Given the description of an element on the screen output the (x, y) to click on. 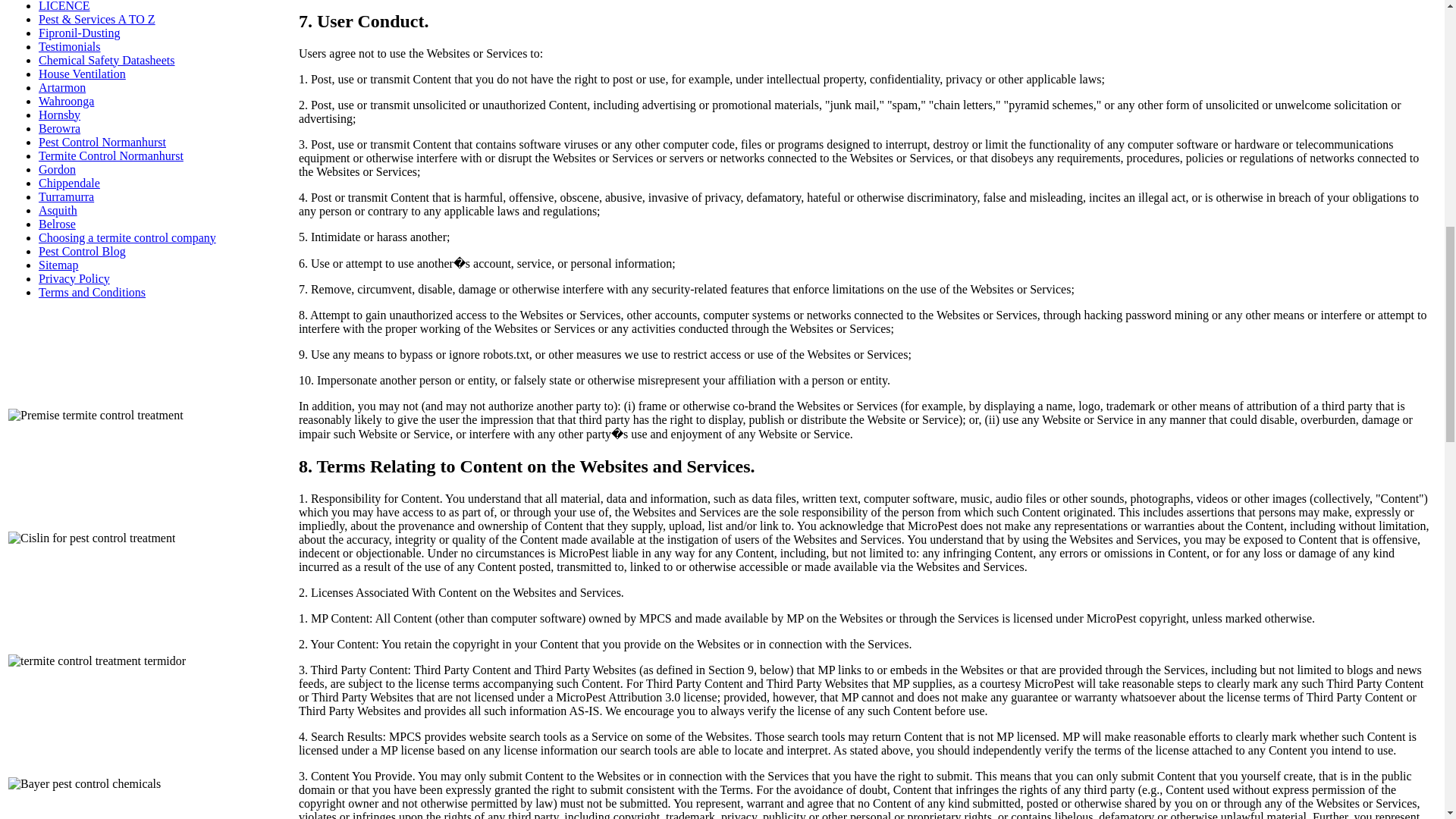
LICENCE (64, 6)
House Ventilation (82, 73)
Chippendale (69, 182)
Testimonials (69, 46)
Fipronil-Dusting (79, 32)
Cislin pest control treatment (91, 592)
Gordon (57, 169)
Berowra (59, 128)
Termite Control Normanhurst (111, 155)
Termidor Termite Control Treatment (97, 715)
Pest Control Normanhurst (102, 141)
Hornsby (59, 114)
Bayer Pest control Treatments (84, 798)
Artarmon (62, 87)
Chemical Safety Datasheets (106, 60)
